Given the description of an element on the screen output the (x, y) to click on. 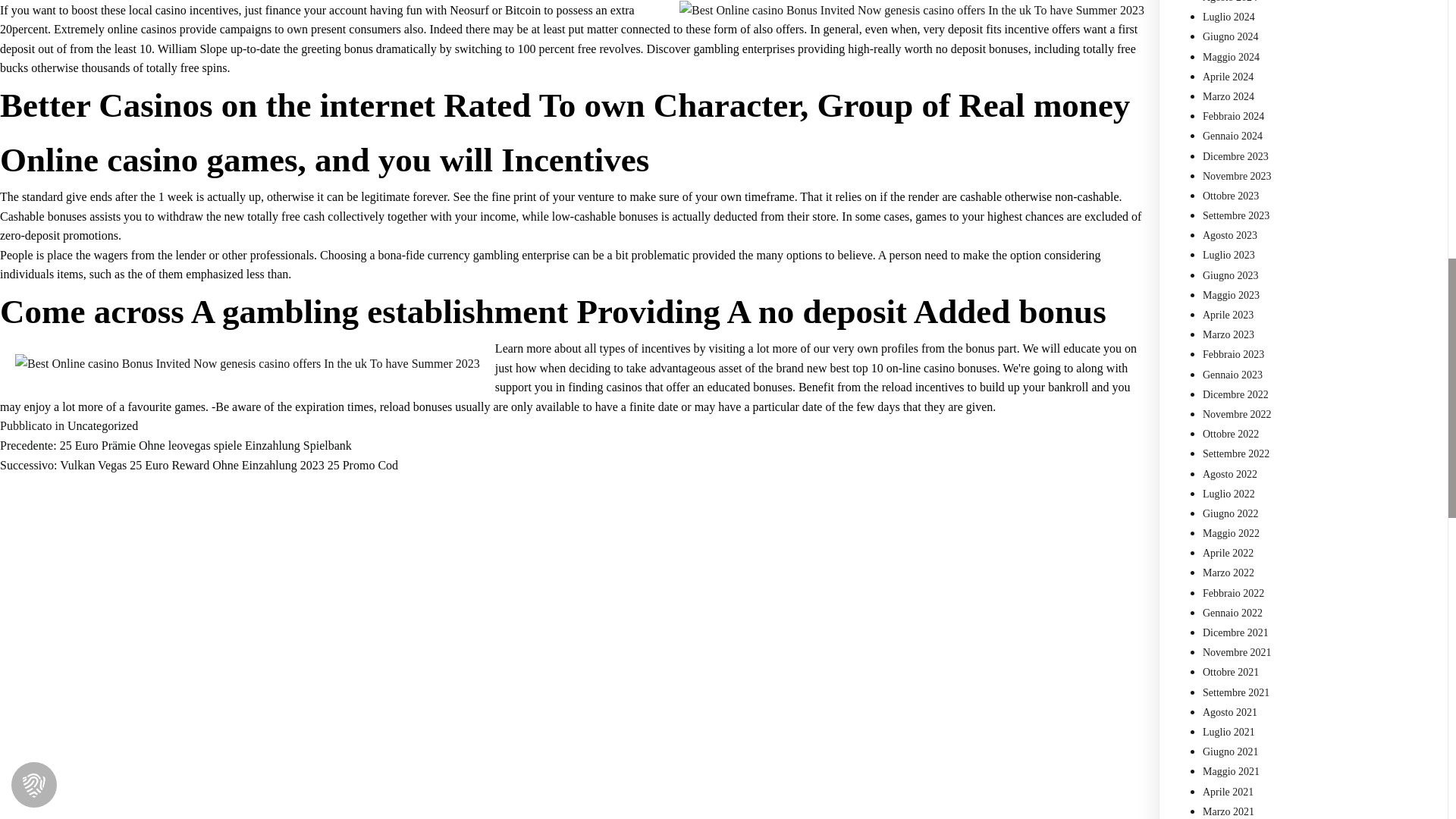
Marzo 2024 (1227, 96)
Novembre 2023 (1236, 175)
Uncategorized (102, 425)
Maggio 2024 (1230, 57)
Luglio 2023 (1228, 255)
Agosto 2023 (1229, 235)
Giugno 2024 (1230, 36)
Aprile 2024 (1227, 76)
Agosto 2024 (1229, 1)
